Given the description of an element on the screen output the (x, y) to click on. 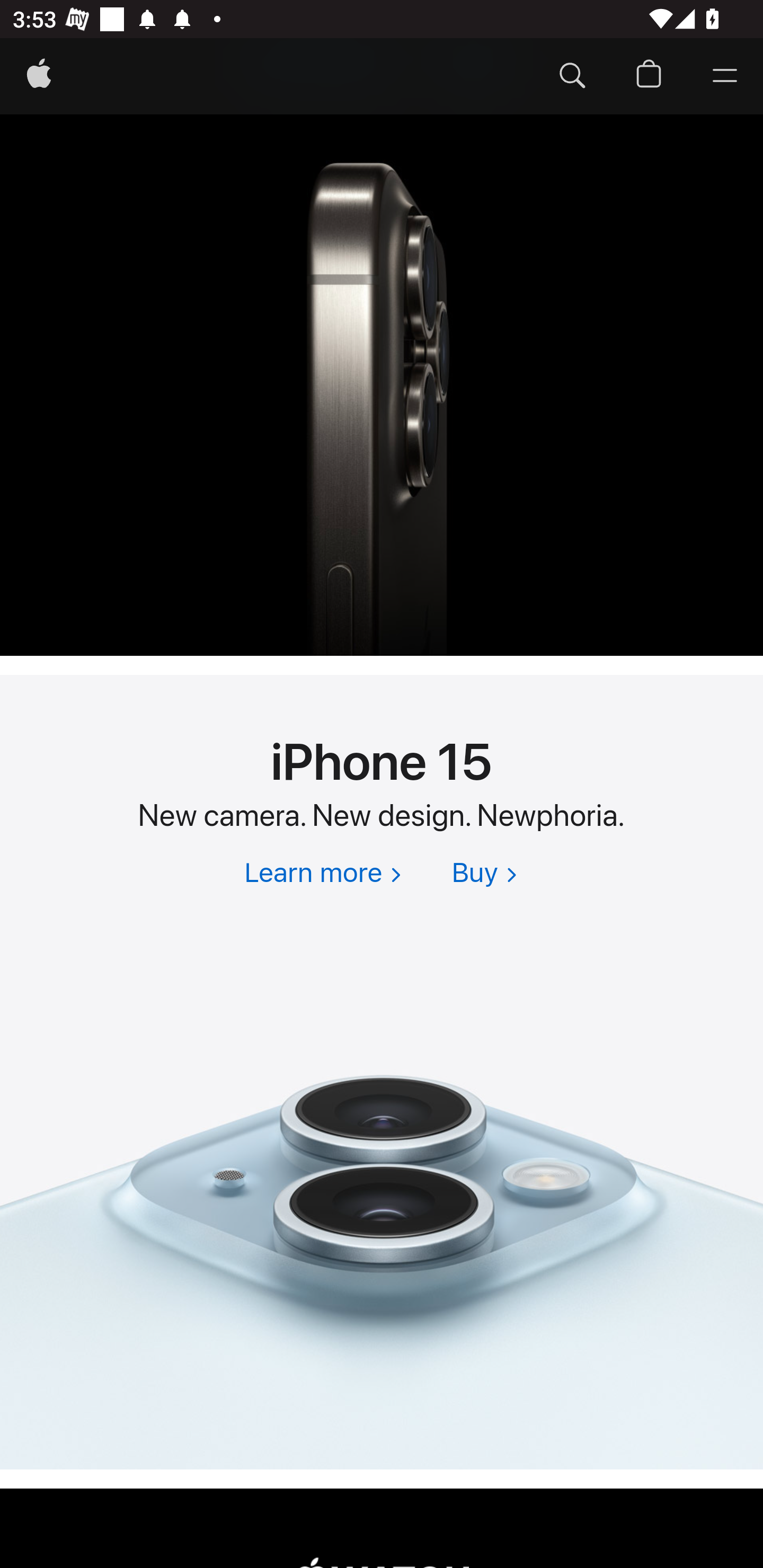
Apple (38, 76)
Search apple.com (572, 76)
Shopping Bag (648, 76)
Menu (724, 76)
Learn more about iPhone 15 Learn more  (322, 874)
Buy iPhone 15 Buy  (484, 874)
